Given the description of an element on the screen output the (x, y) to click on. 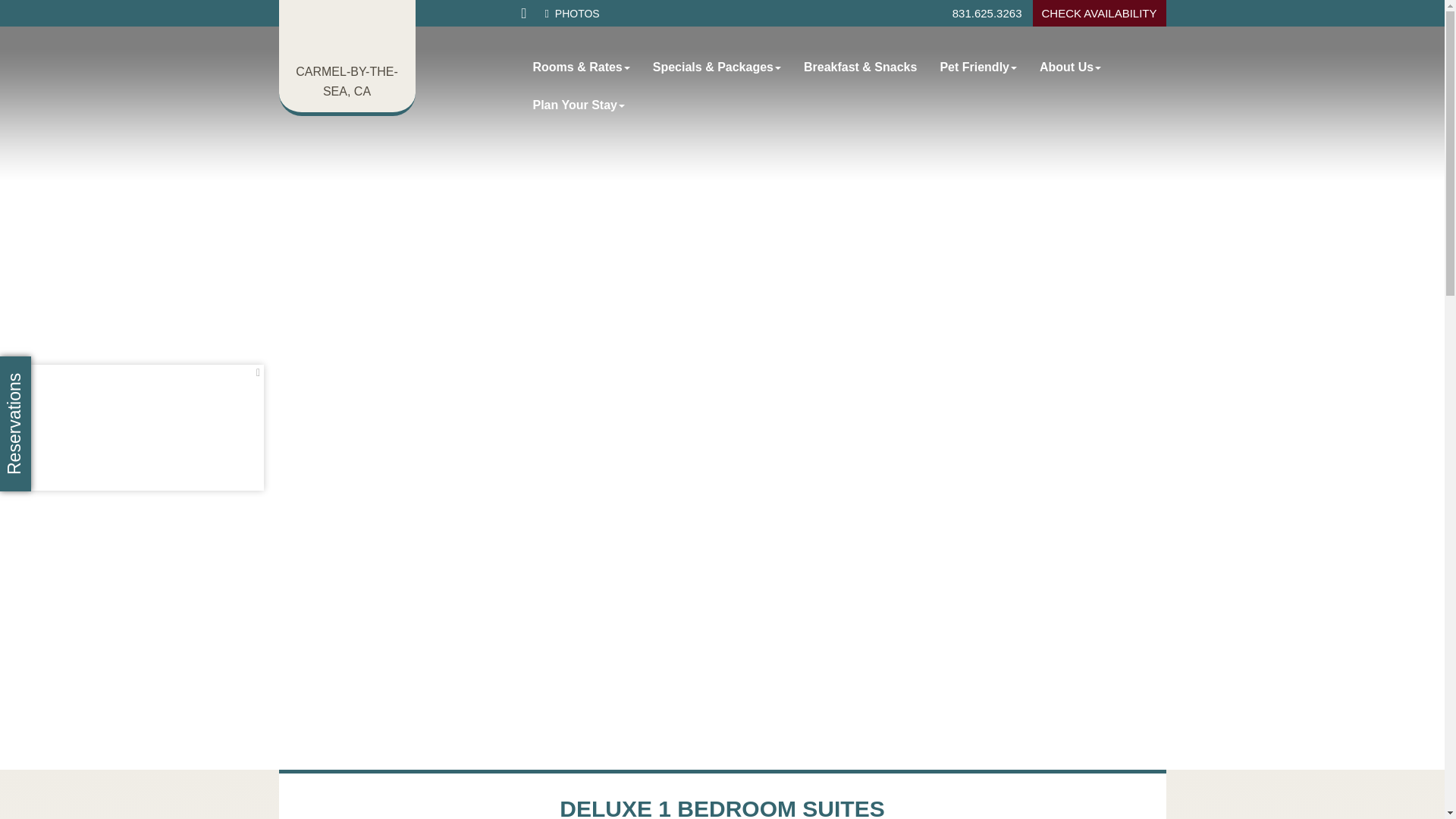
PHOTOS (571, 13)
About Us (1069, 66)
HOME (525, 13)
CHECK AVAILABILITY (1099, 13)
Carmel Country Inn (349, 34)
Plan Your Stay (578, 104)
Carmel's Most Pet Friendly Bed and Breakfast (349, 34)
831.625.3263 (987, 13)
Pet Friendly (977, 66)
